Given the description of an element on the screen output the (x, y) to click on. 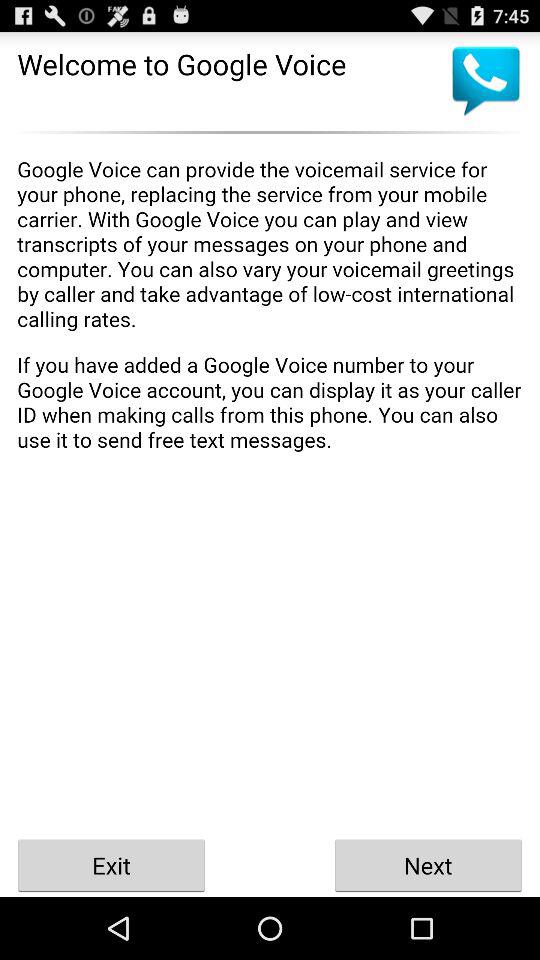
choose the button next to exit item (427, 864)
